Given the description of an element on the screen output the (x, y) to click on. 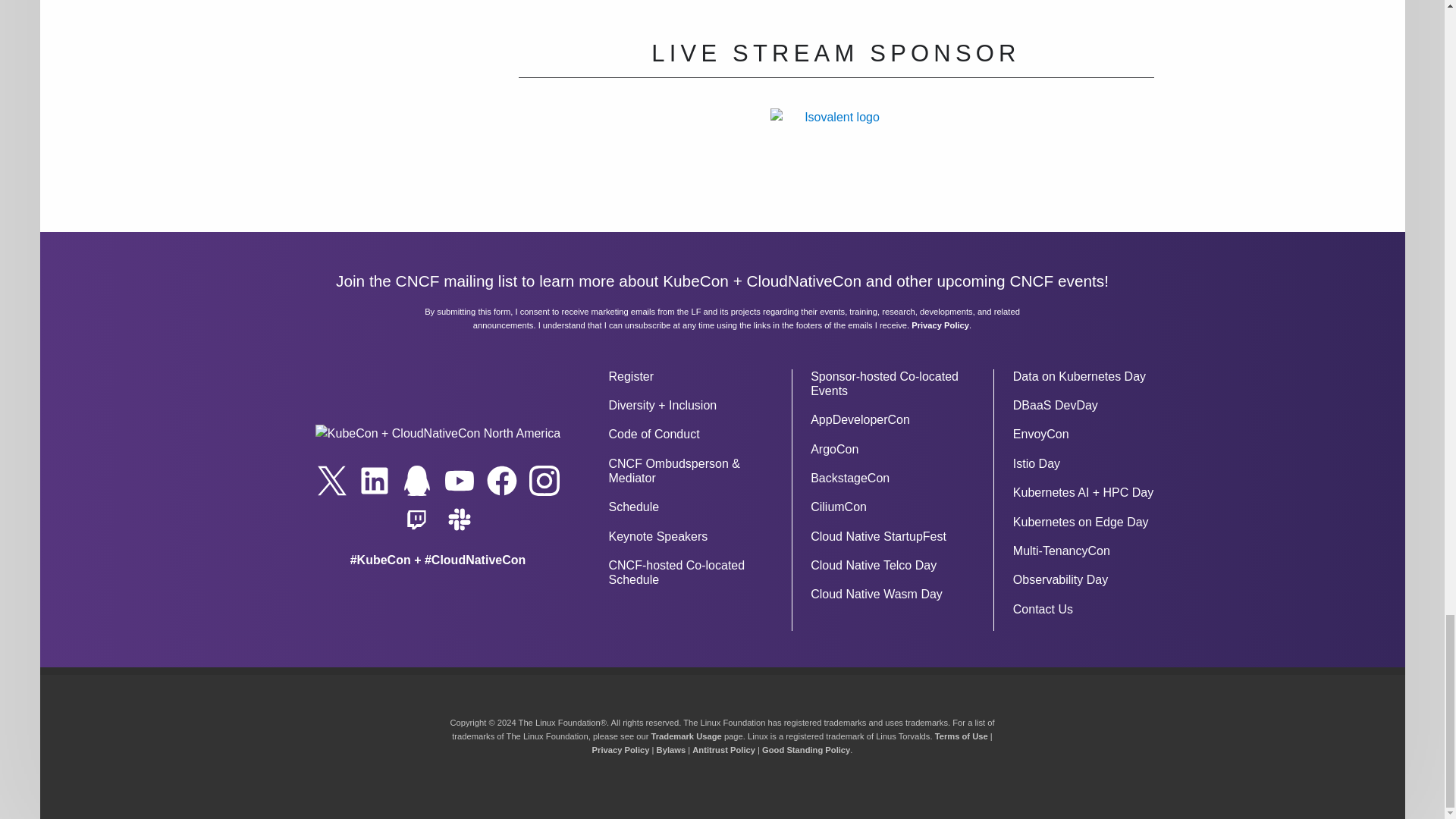
YouTube (459, 481)
Twitch (416, 519)
X (332, 481)
QQ (416, 481)
Slack (459, 519)
Instagram (544, 481)
Linkedin (374, 481)
Facebook (501, 481)
Go to Isovalent (836, 163)
